Given the description of an element on the screen output the (x, y) to click on. 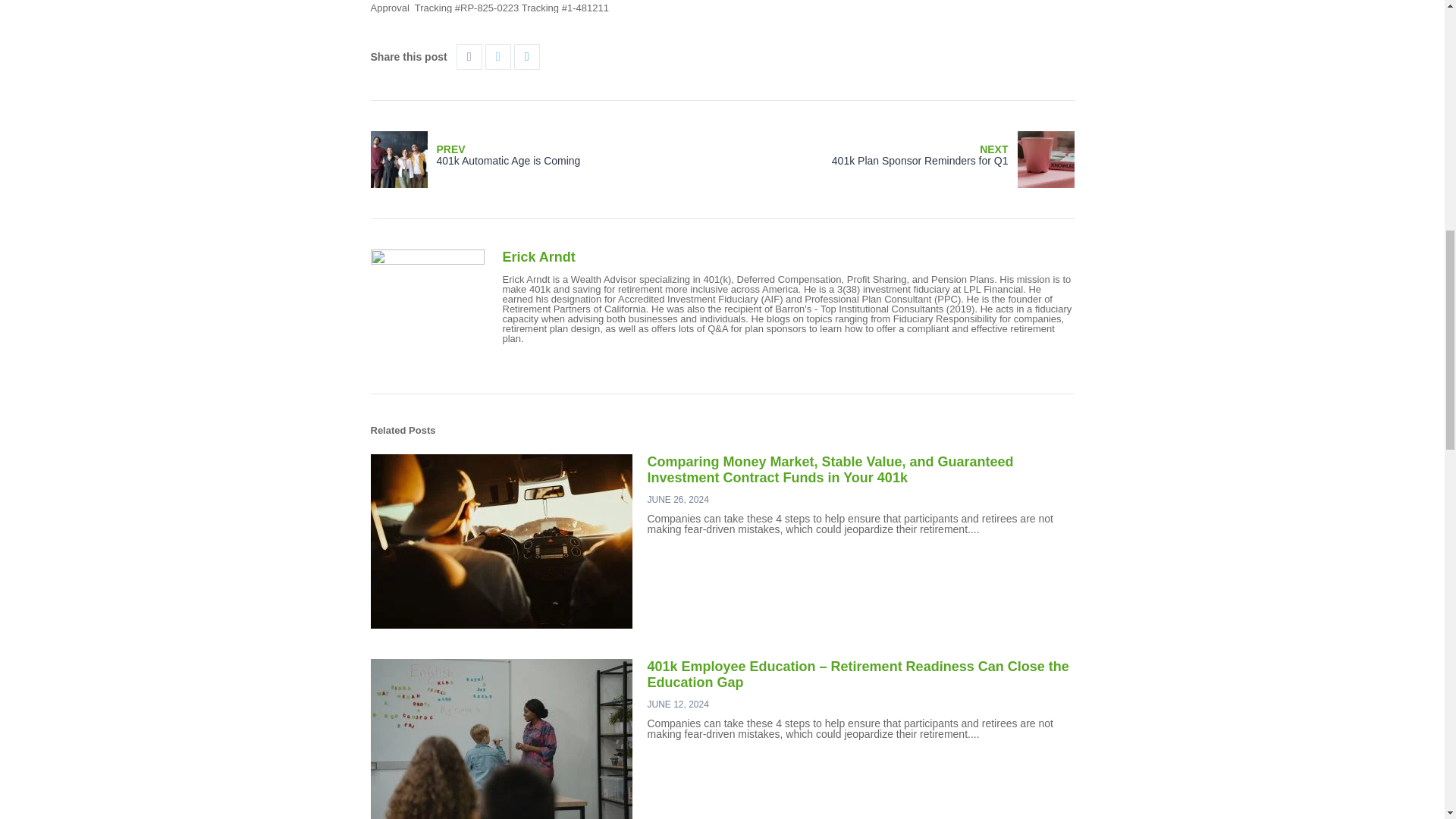
Erick Arndt (538, 255)
Posts by Erick Arndt (545, 158)
